Given the description of an element on the screen output the (x, y) to click on. 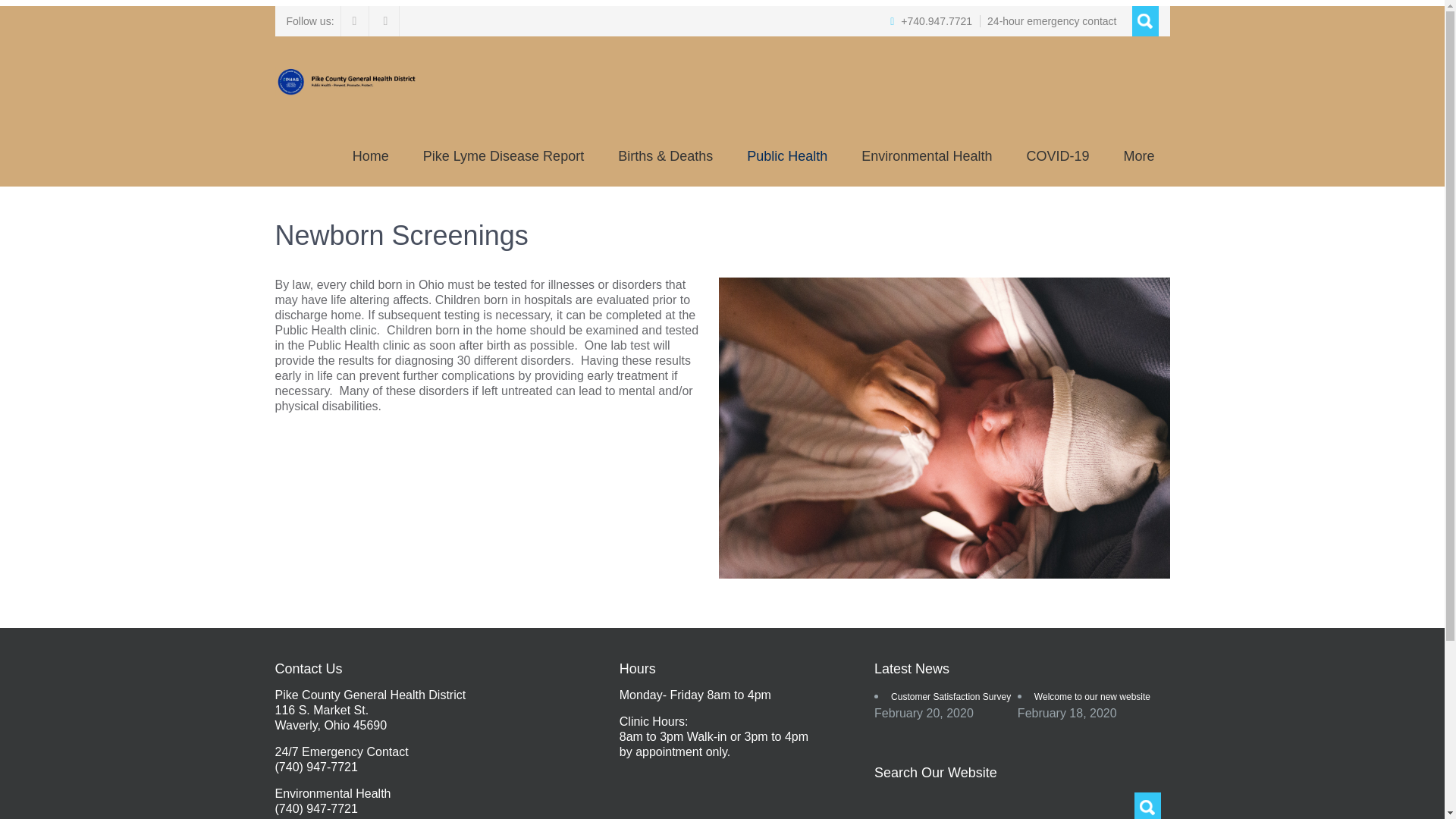
facebook (354, 20)
More (1138, 156)
Pike Lyme Disease Report (502, 156)
Environmental Health (926, 156)
Home (370, 156)
COVID-19 (1056, 156)
twitter (384, 20)
Public Health (787, 156)
